Given the description of an element on the screen output the (x, y) to click on. 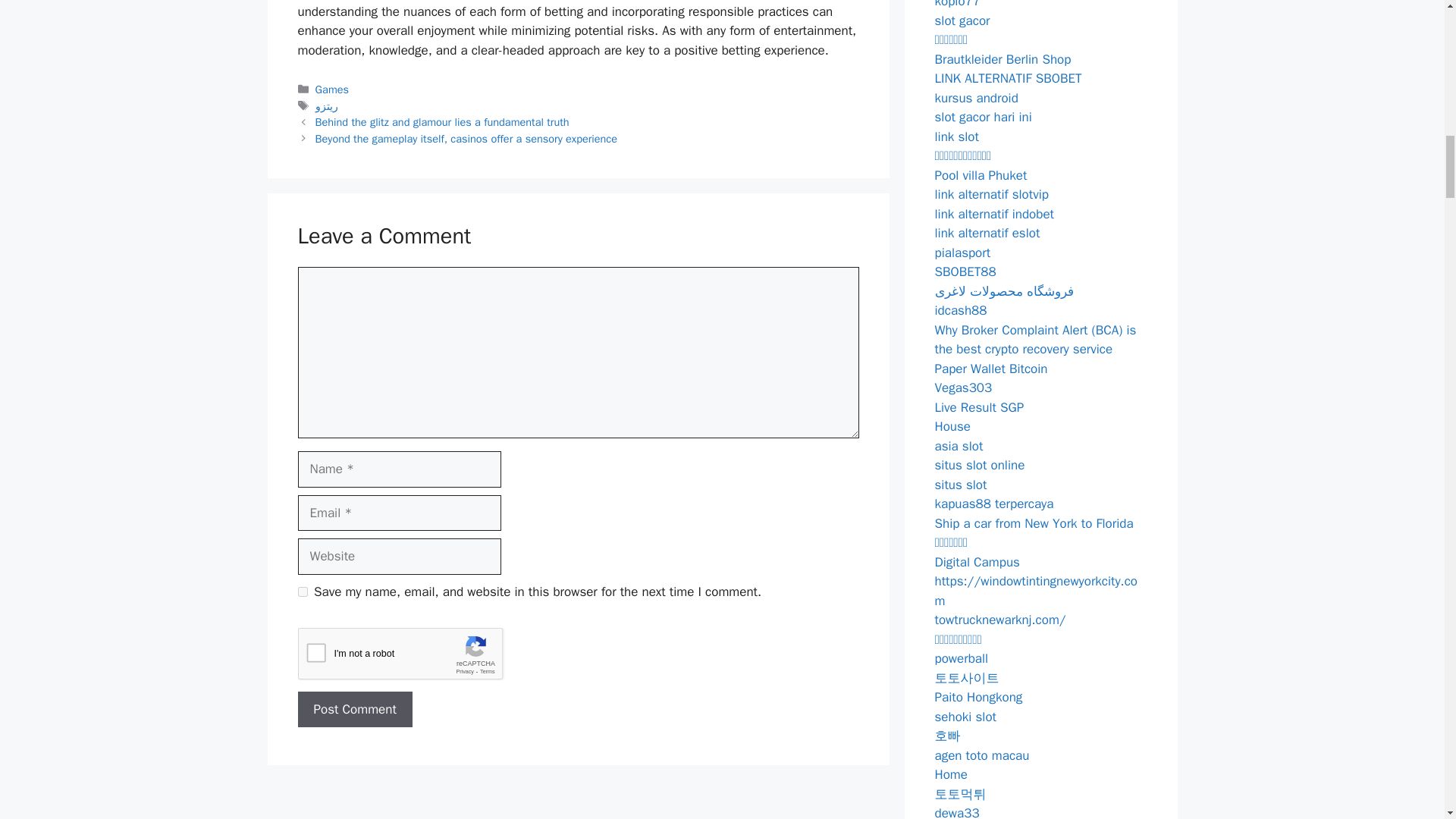
Post Comment (354, 709)
Behind the glitz and glamour lies a fundamental truth (442, 121)
yes (302, 592)
Post Comment (354, 709)
Games (332, 89)
reCAPTCHA (412, 656)
